Given the description of an element on the screen output the (x, y) to click on. 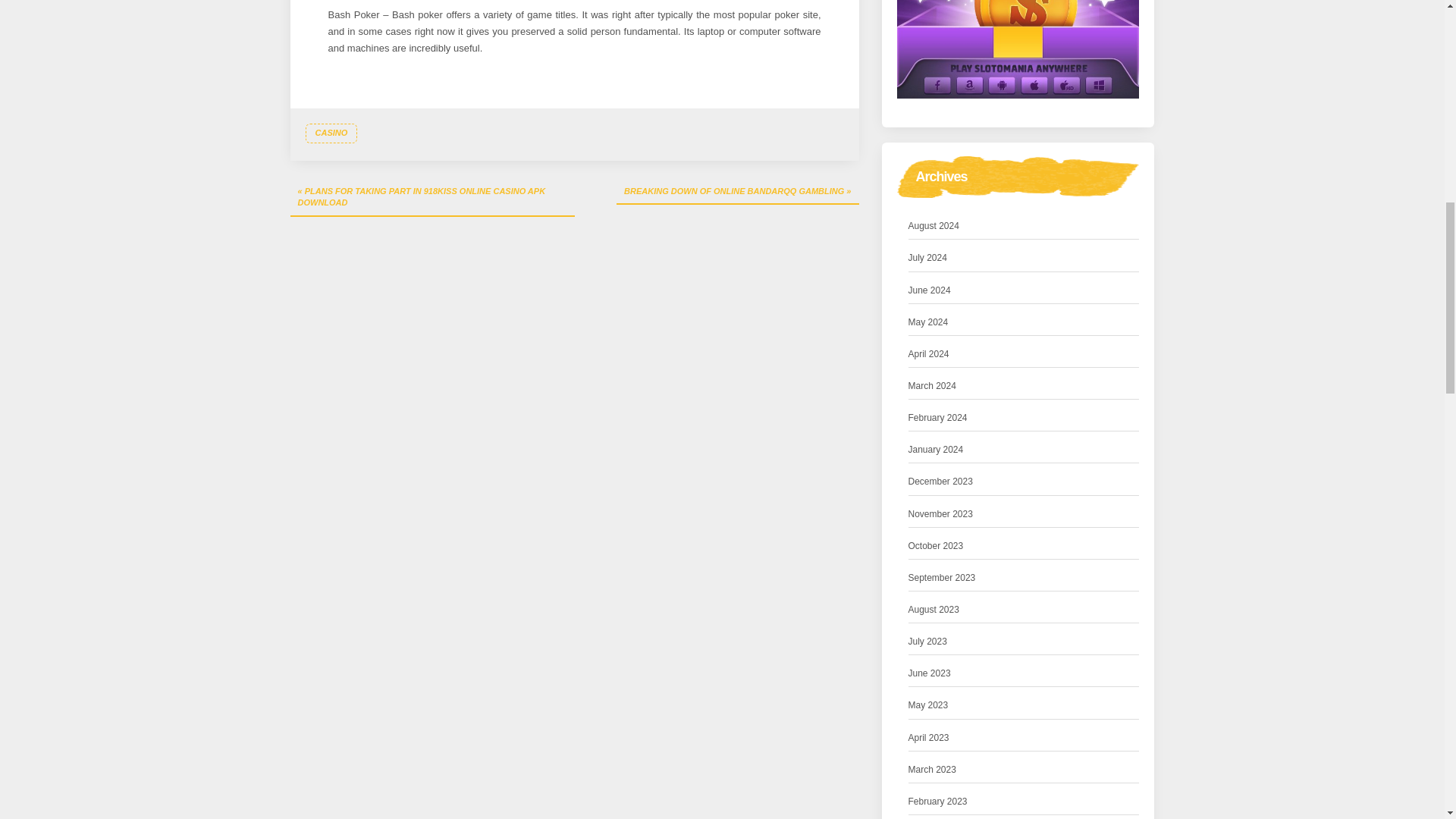
March 2024 (932, 385)
December 2023 (940, 481)
August 2023 (933, 609)
June 2024 (929, 290)
March 2023 (932, 770)
January 2024 (935, 449)
October 2023 (935, 546)
May 2024 (928, 322)
February 2023 (938, 801)
BREAKING DOWN OF ONLINE BANDARQQ GAMBLING (737, 192)
